Given the description of an element on the screen output the (x, y) to click on. 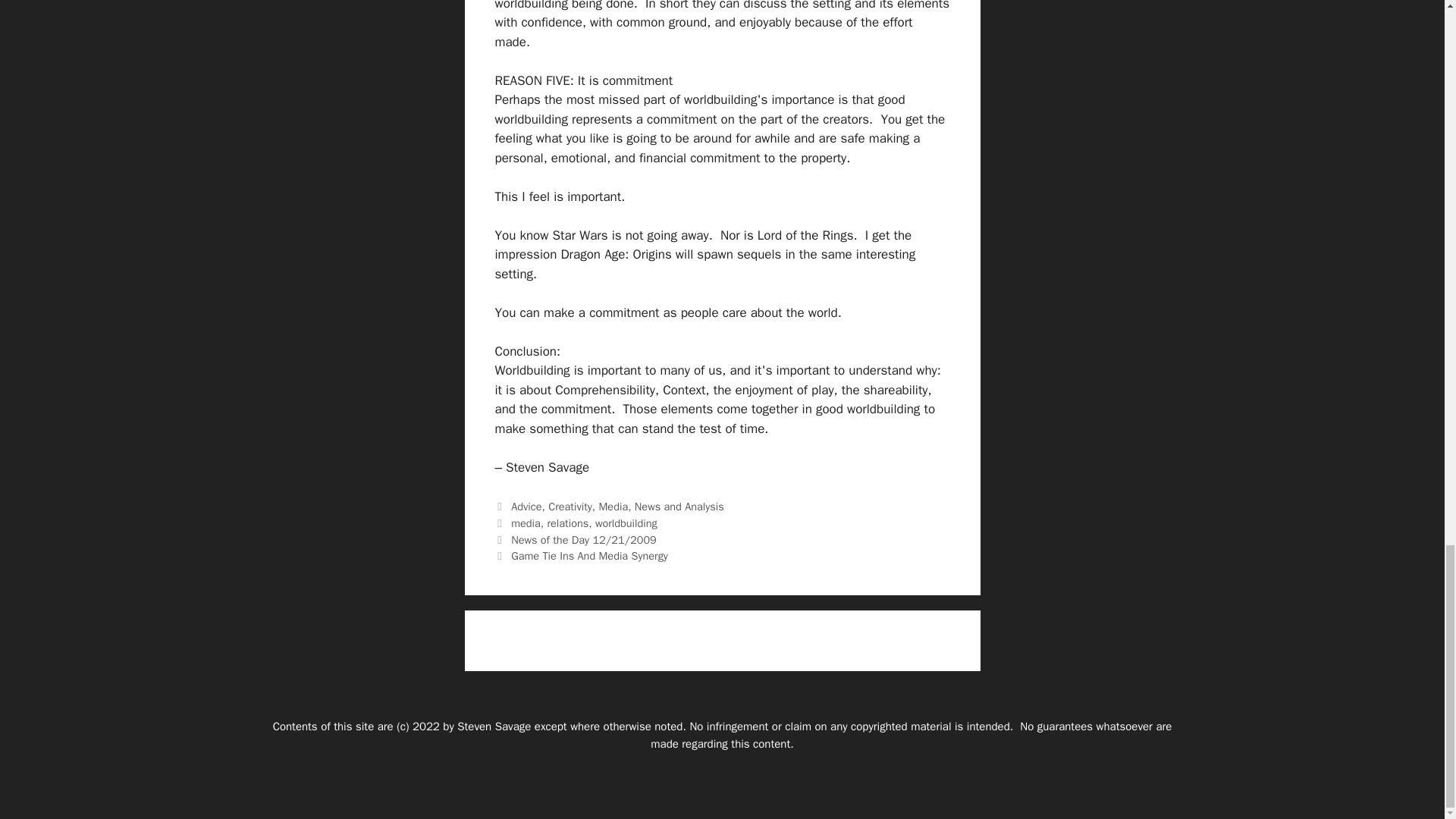
worldbuilding (626, 522)
relations (567, 522)
Advice (526, 506)
Media (613, 506)
media (525, 522)
News and Analysis (678, 506)
Creativity (570, 506)
Game Tie Ins And Media Synergy (589, 555)
